Given the description of an element on the screen output the (x, y) to click on. 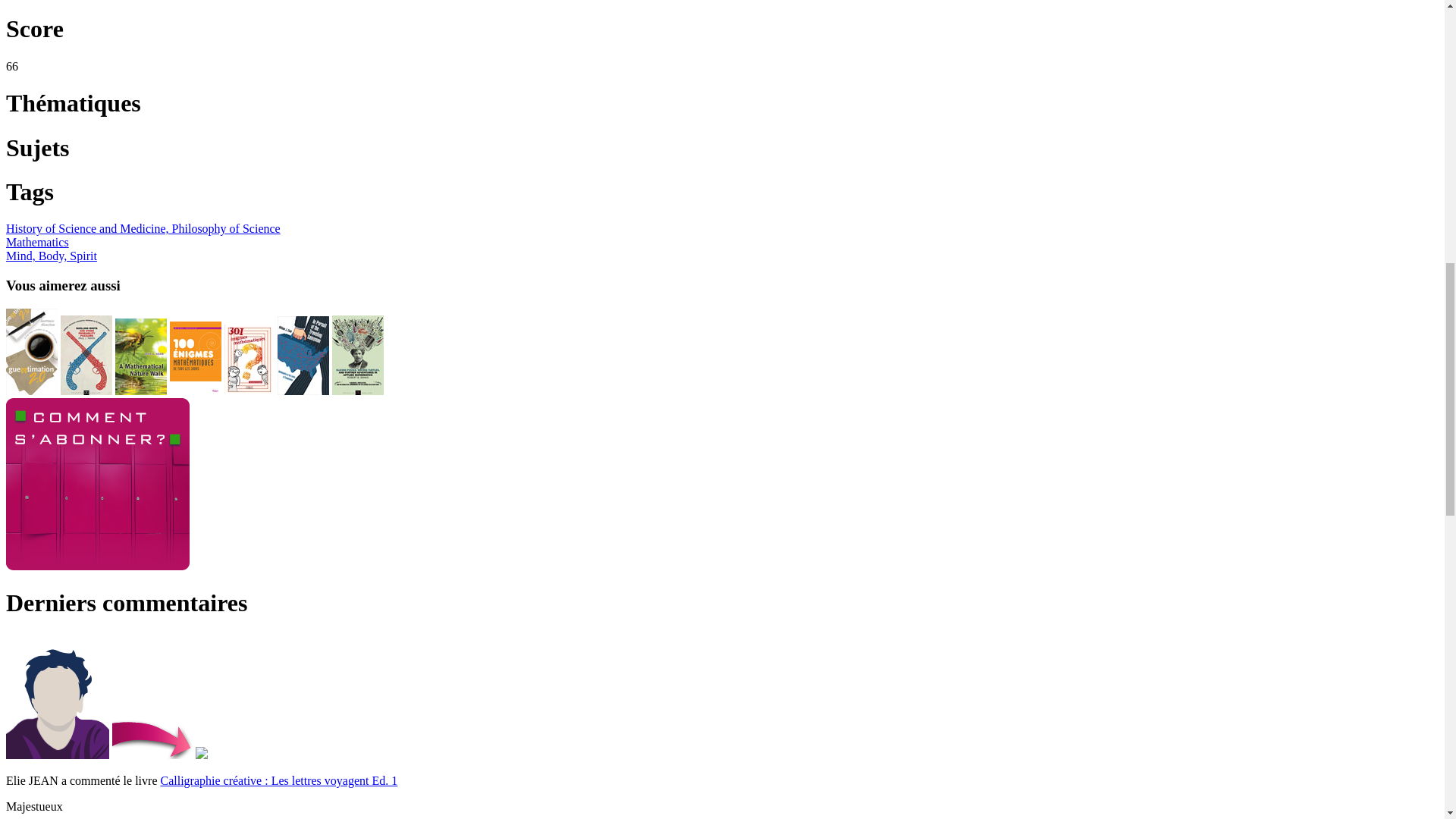
History of Science and Medicine, Philosophy of Science (143, 228)
Mind, Body, Spirit (51, 255)
Mathematics (36, 241)
